Given the description of an element on the screen output the (x, y) to click on. 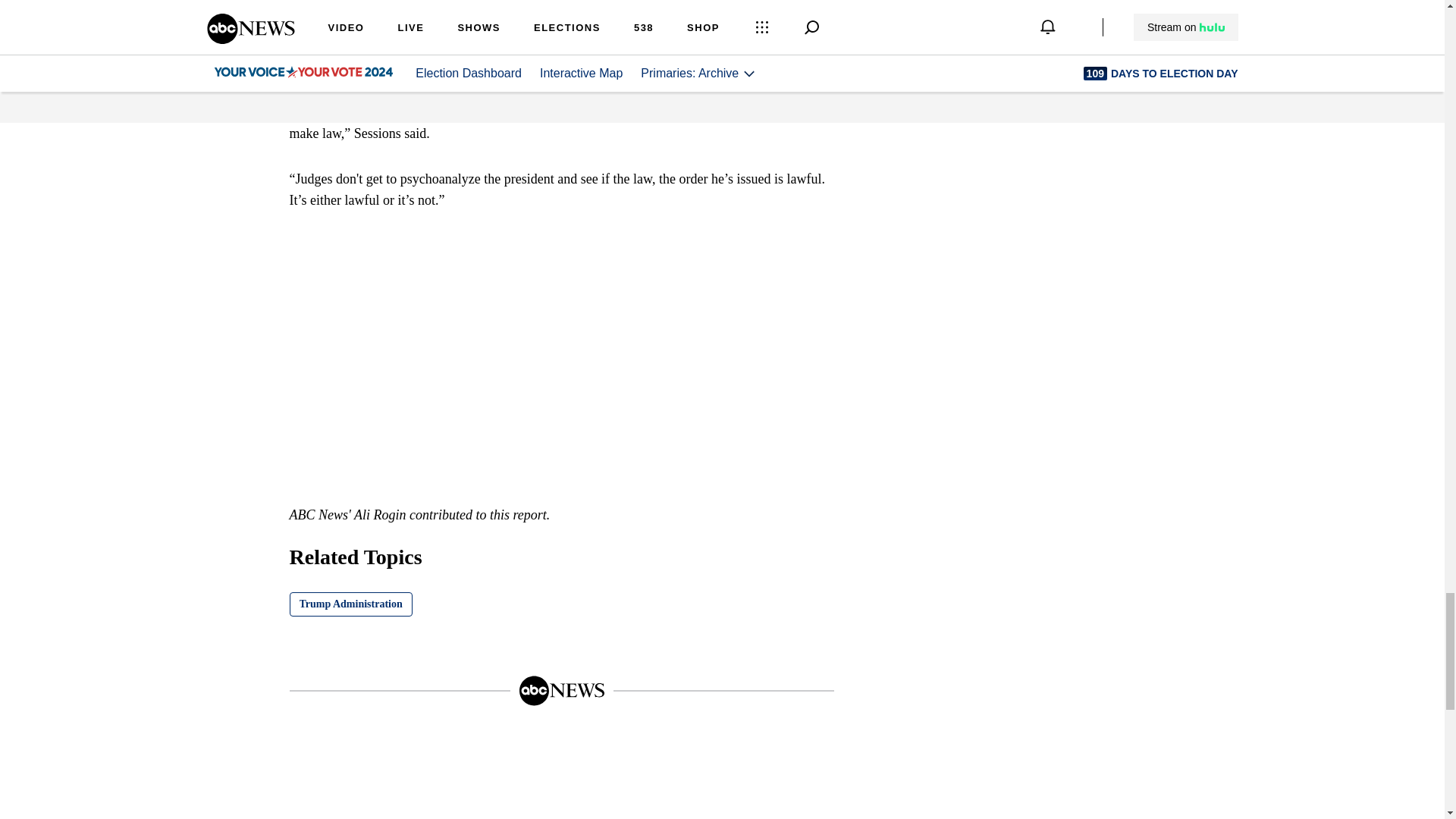
executive orders (760, 90)
Trump Administration (350, 604)
